Given the description of an element on the screen output the (x, y) to click on. 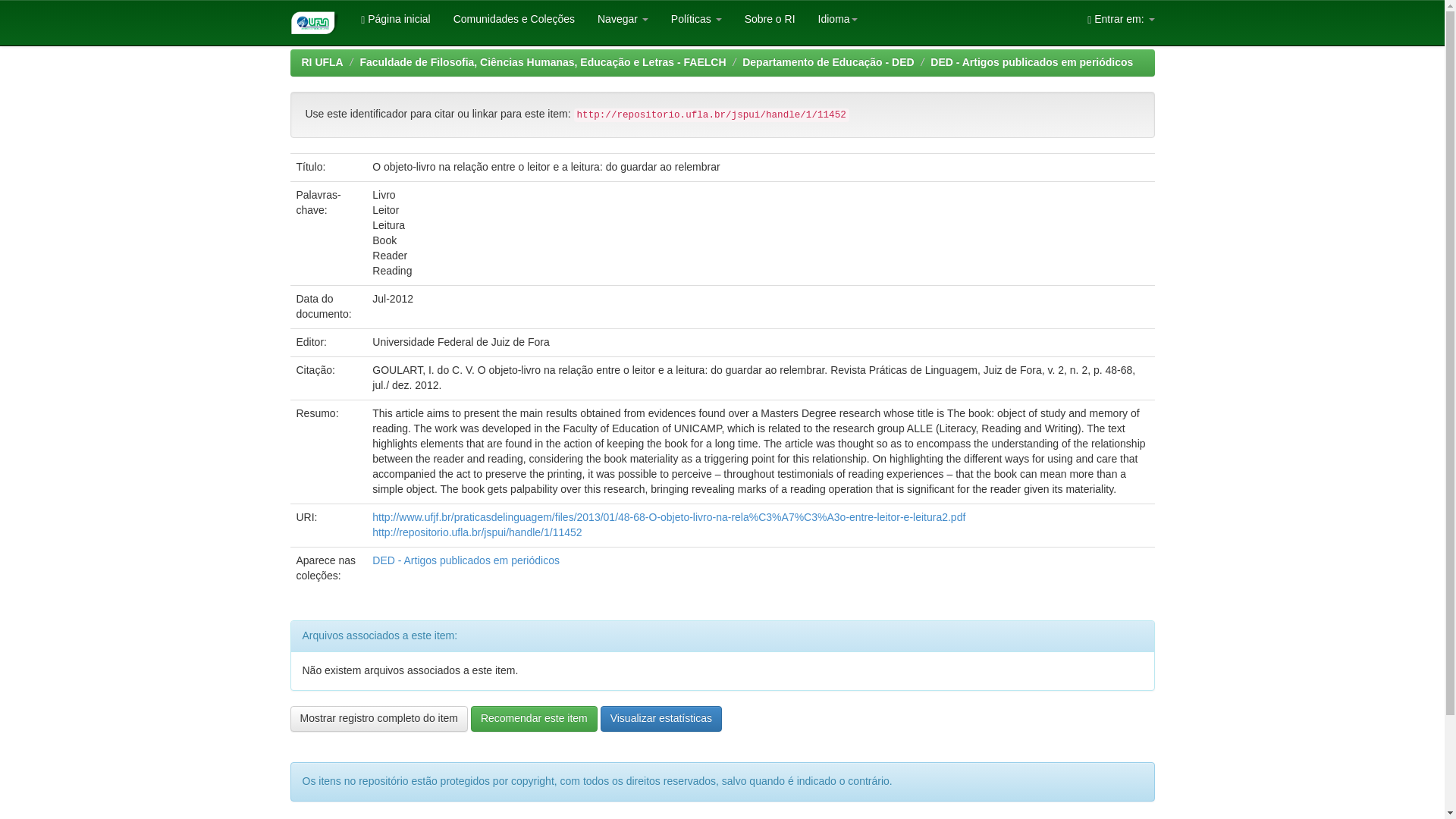
Idioma (837, 18)
Sobre o RI (769, 18)
Recomendar este item (533, 718)
Mostrar registro completo do item (378, 718)
RI UFLA (322, 61)
Navegar (622, 18)
Entrar em: (1120, 18)
